Given the description of an element on the screen output the (x, y) to click on. 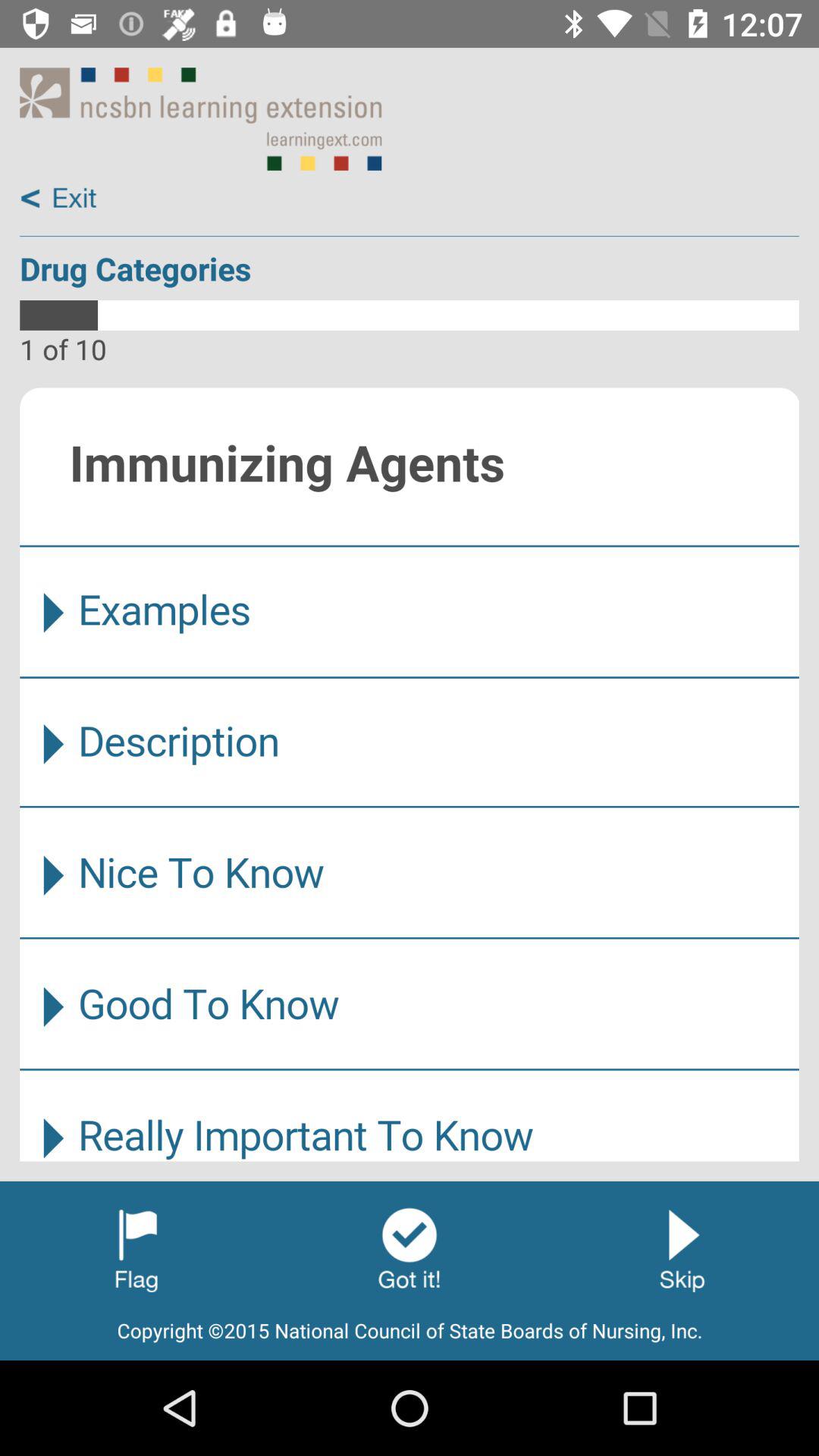
toggle flag option (136, 1248)
